Given the description of an element on the screen output the (x, y) to click on. 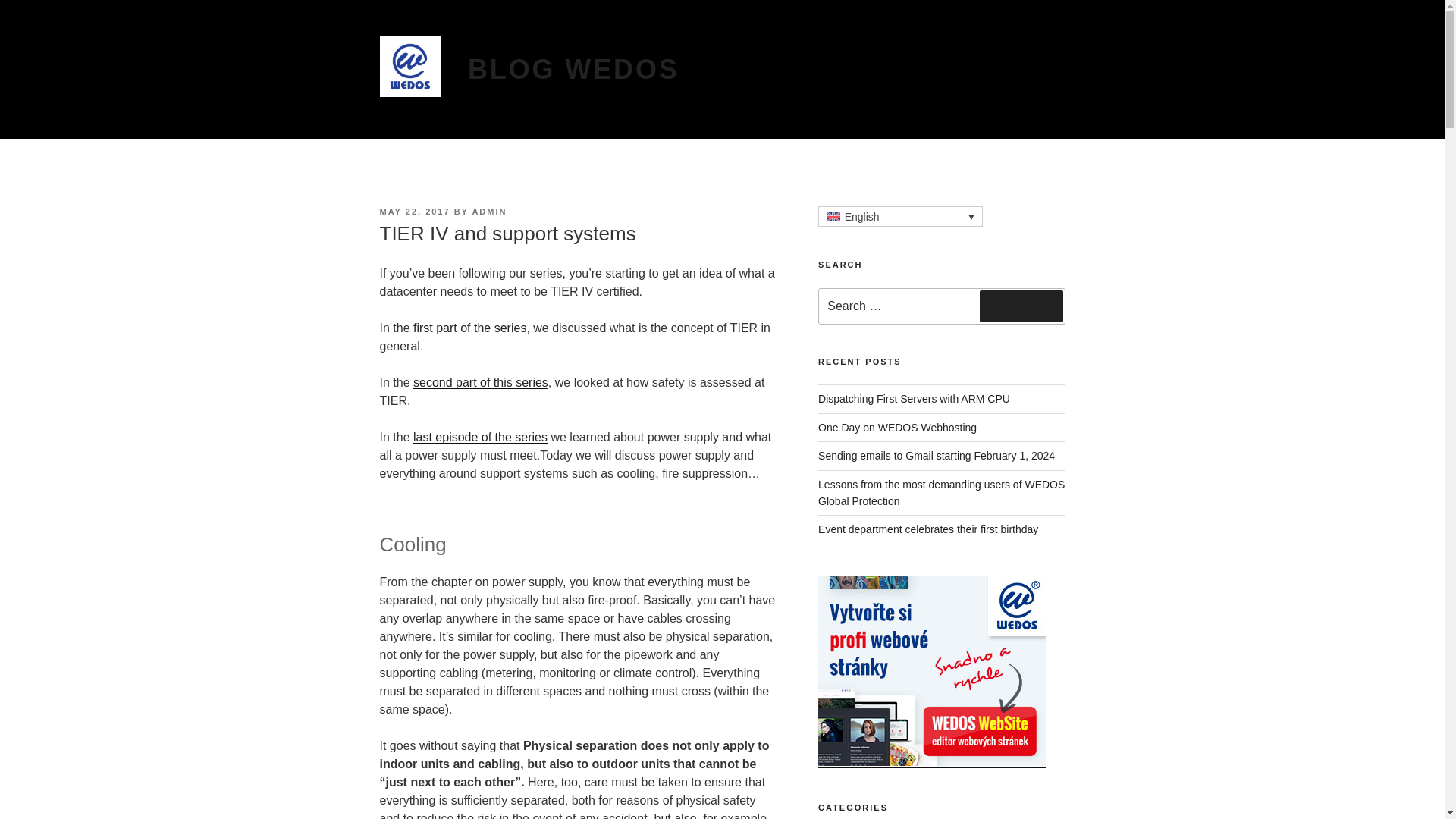
Dispatching First Servers with ARM CPU (914, 398)
English (900, 216)
last episode of the series (480, 436)
first part of the series (469, 327)
Search (1020, 306)
ADMIN (488, 211)
One Day on WEDOS Webhosting (897, 427)
MAY 22, 2017 (413, 211)
BLOG WEDOS (573, 69)
